Given the description of an element on the screen output the (x, y) to click on. 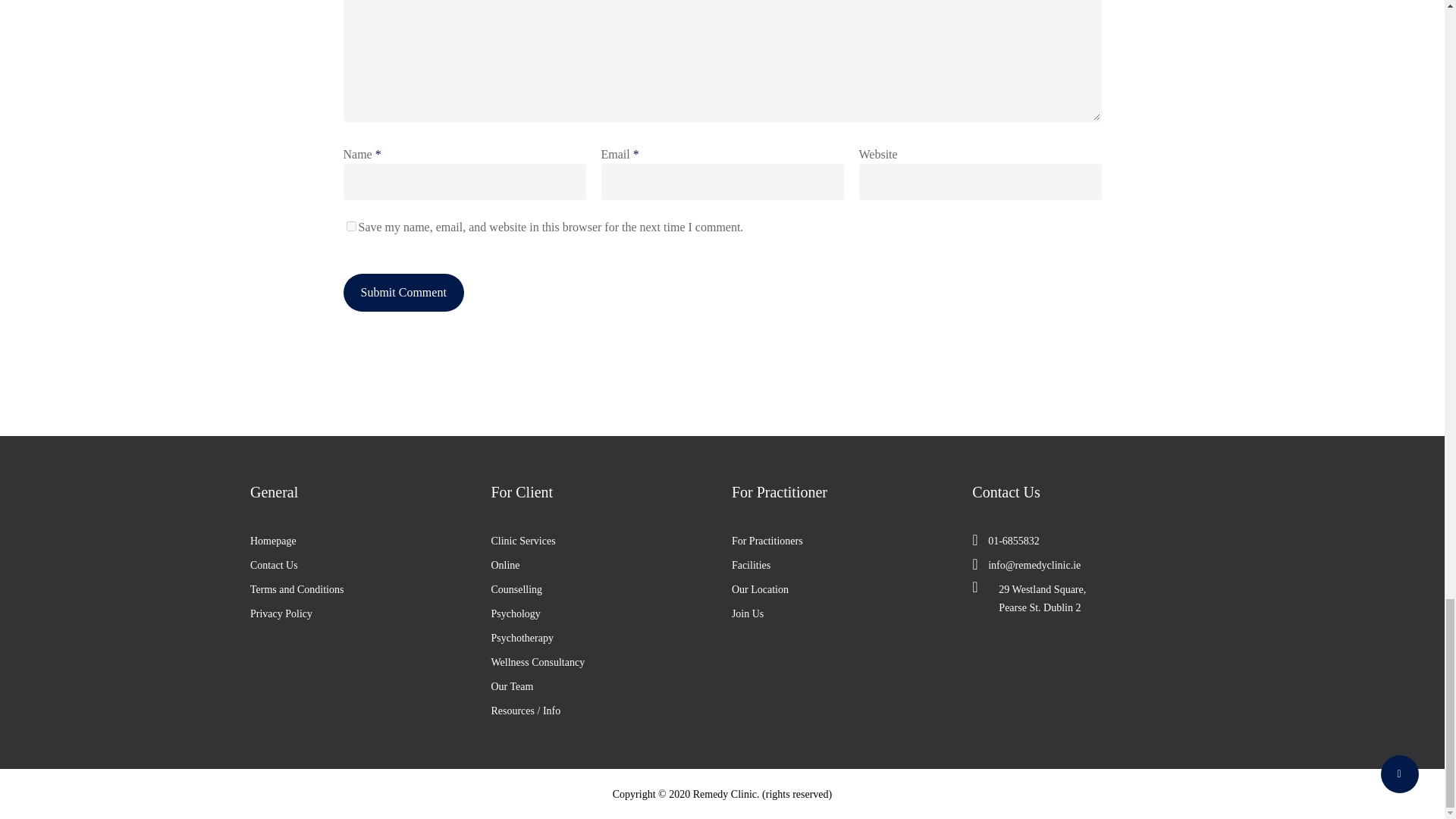
Our Team (601, 687)
yes (350, 225)
Terms and Conditions (360, 589)
Psychology (601, 614)
Psychotherapy (601, 638)
Online (601, 565)
Our Location (842, 589)
Homepage (360, 541)
Counselling (601, 589)
Submit Comment (402, 292)
